Given the description of an element on the screen output the (x, y) to click on. 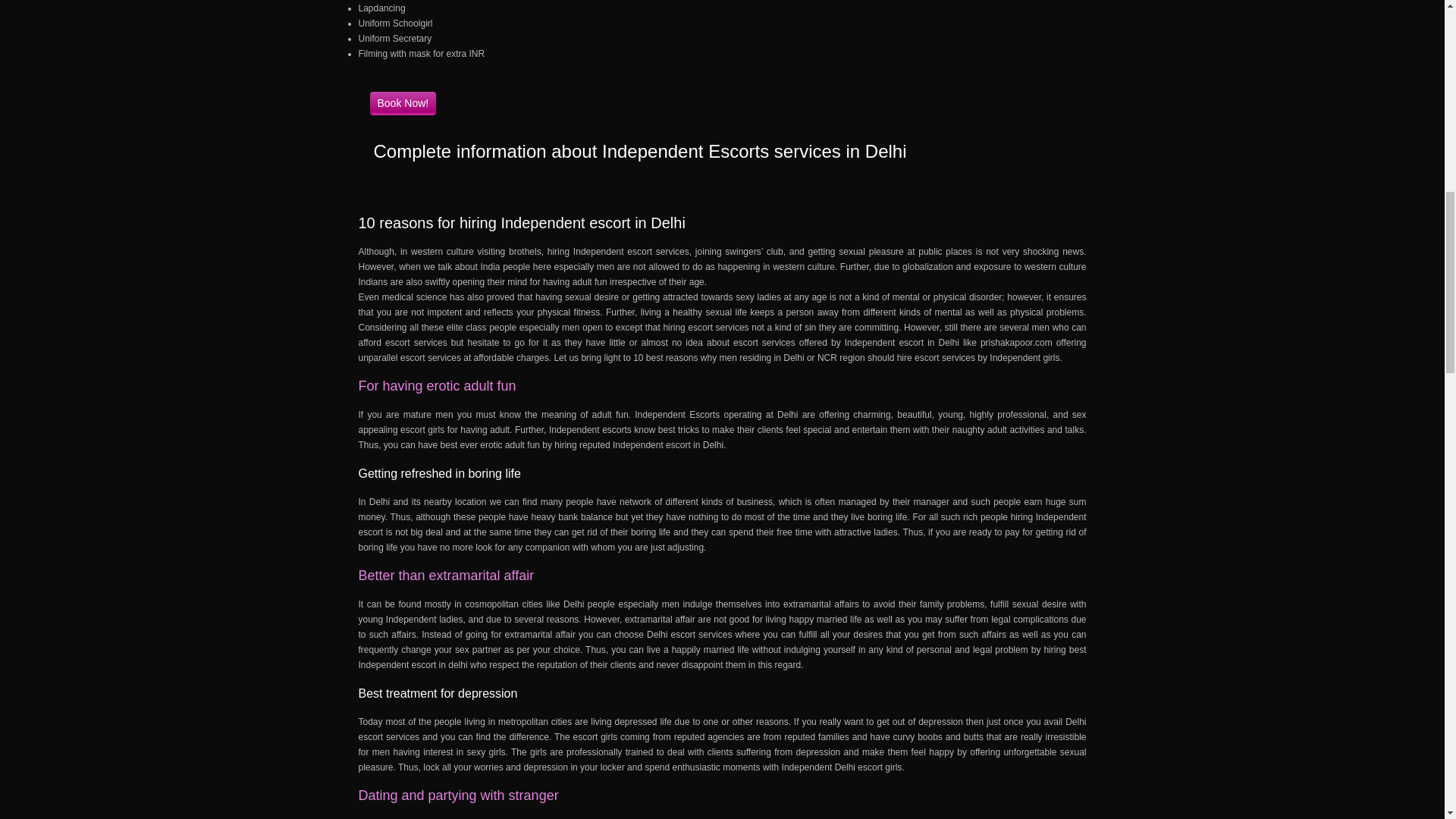
Independent escort in Delhi (901, 342)
mobile number (403, 102)
Book Now! (403, 102)
escort in delhi (439, 665)
